Given the description of an element on the screen output the (x, y) to click on. 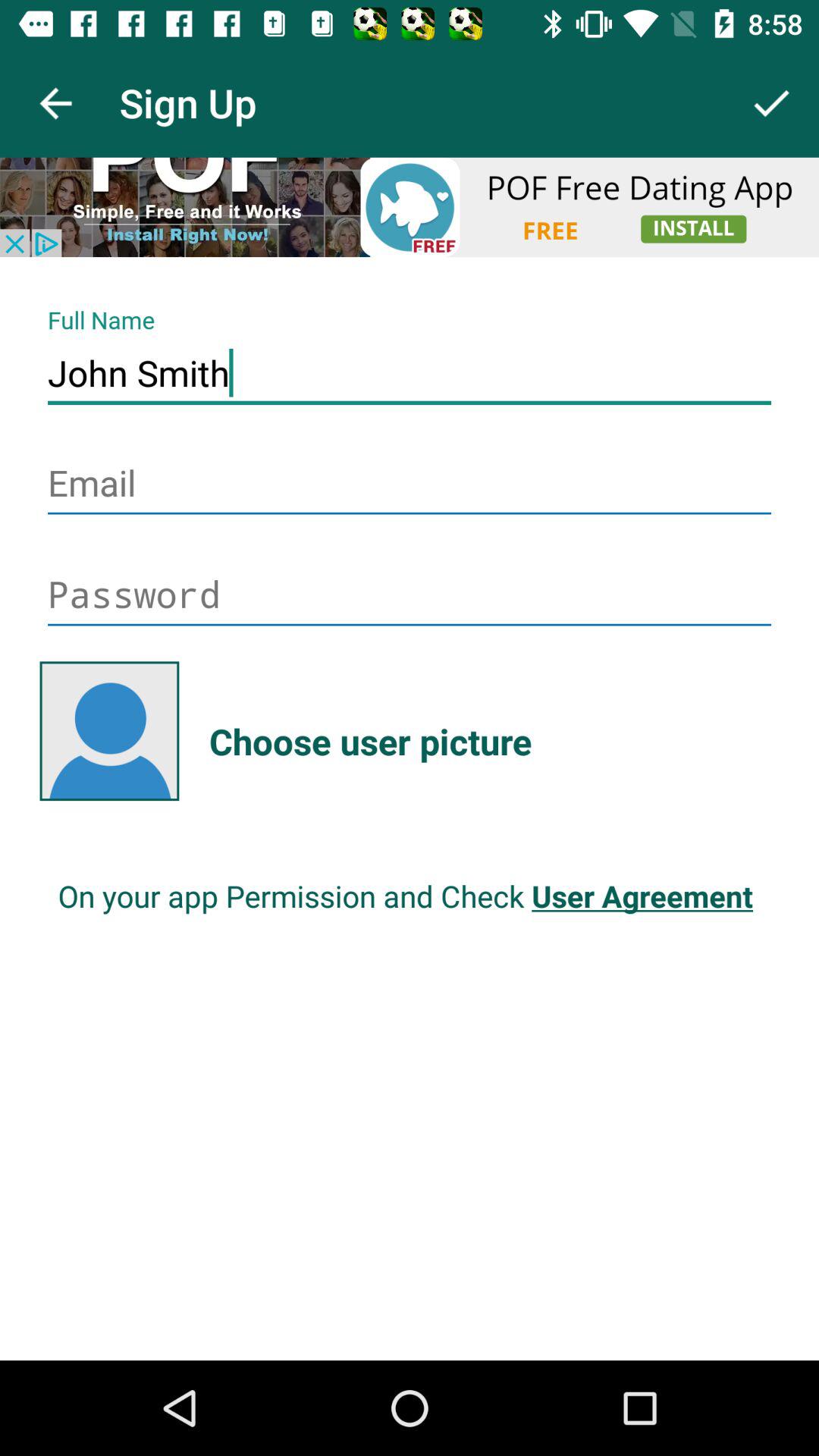
asking password (409, 596)
